Given the description of an element on the screen output the (x, y) to click on. 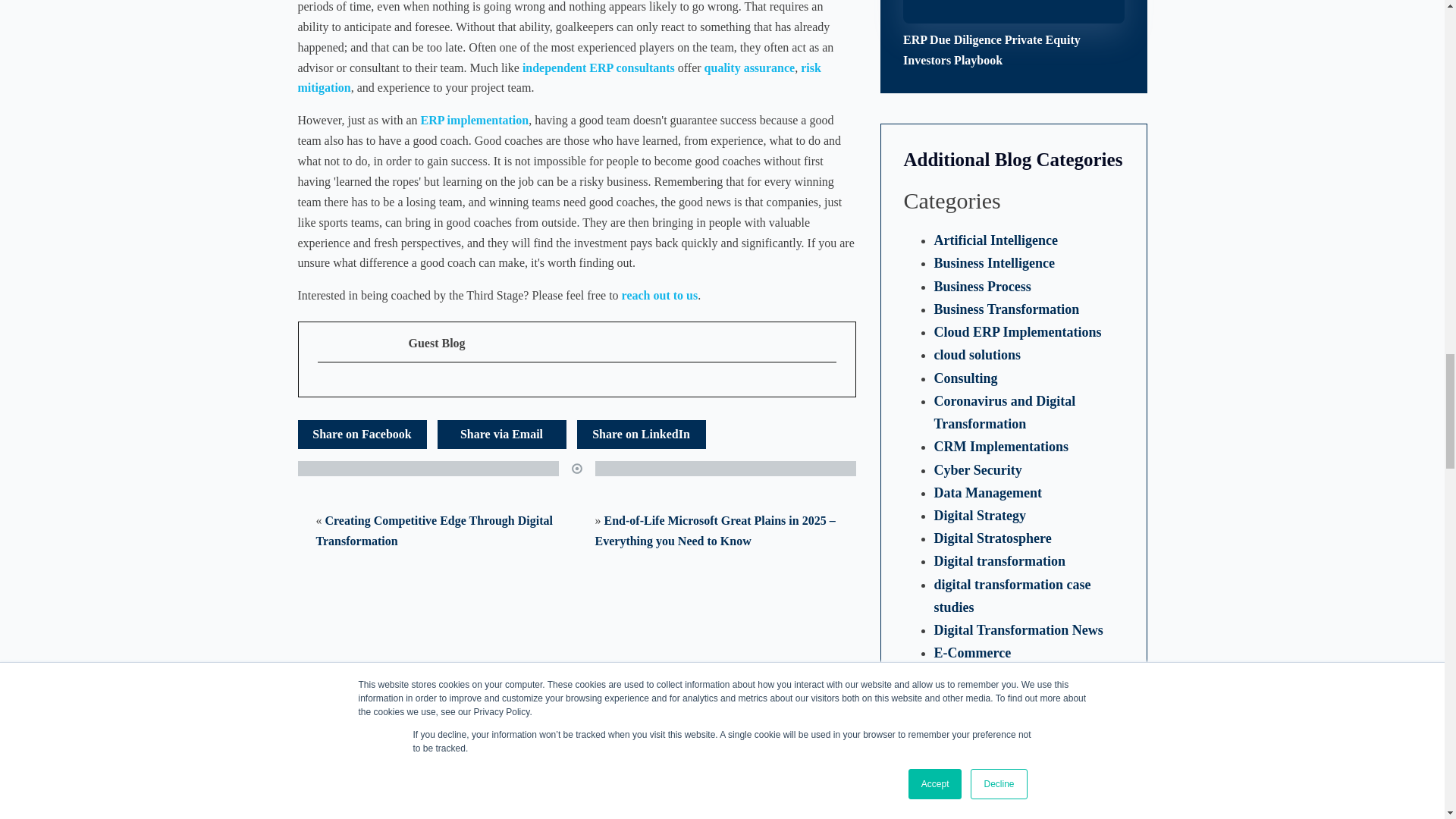
Email (501, 433)
Share on Facebook (361, 433)
Share on LinkedIn (641, 433)
